Given the description of an element on the screen output the (x, y) to click on. 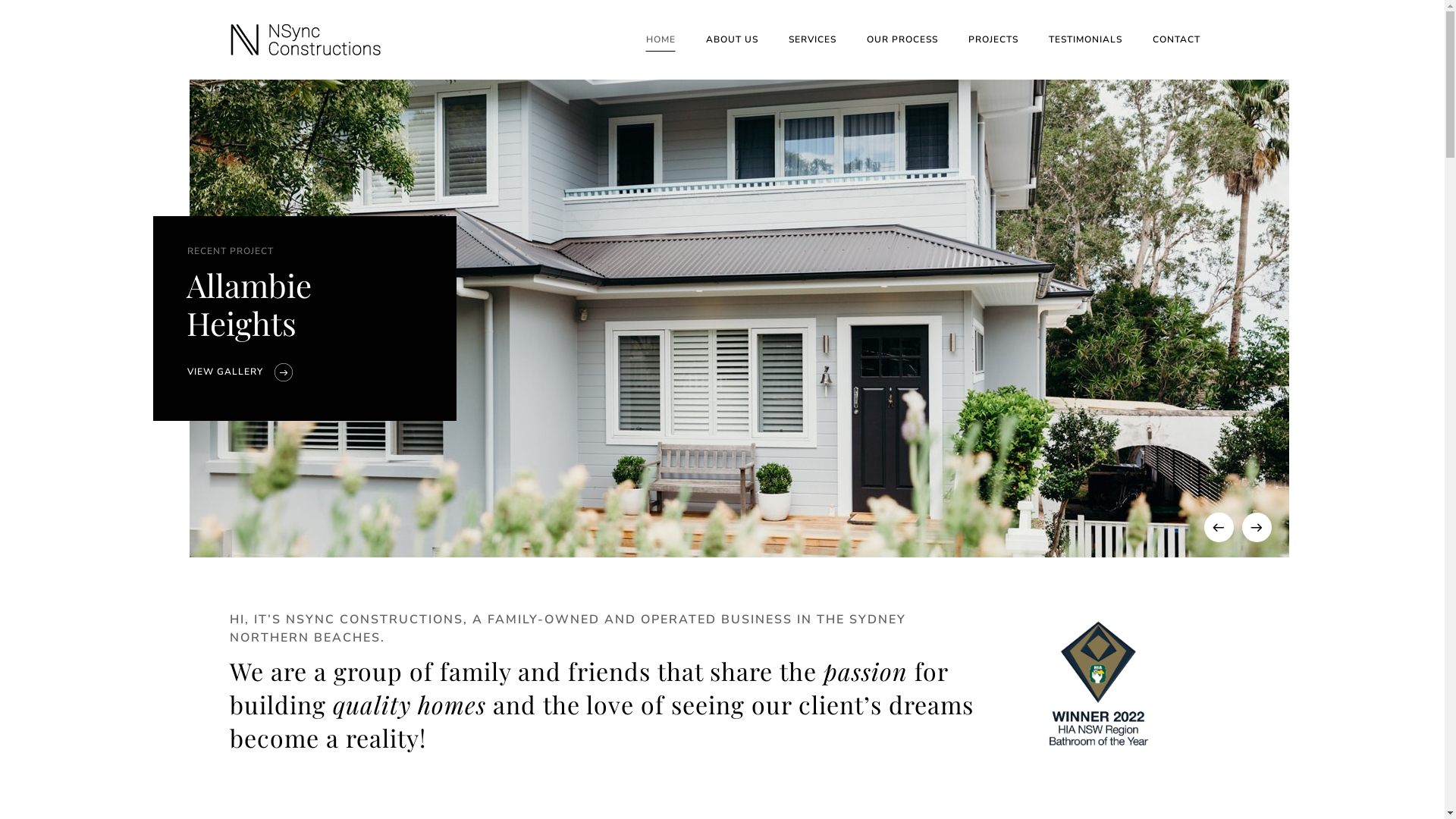
CONTACT Element type: text (1176, 39)
TESTIMONIALS Element type: text (1084, 39)
VIEW GALLERY Element type: text (225, 371)
HOME Element type: text (660, 39)
ABOUT US Element type: text (731, 39)
SERVICES Element type: text (812, 39)
Allambie Heights Element type: text (299, 304)
PROJECTS Element type: text (992, 39)
OUR PROCESS Element type: text (901, 39)
